Given the description of an element on the screen output the (x, y) to click on. 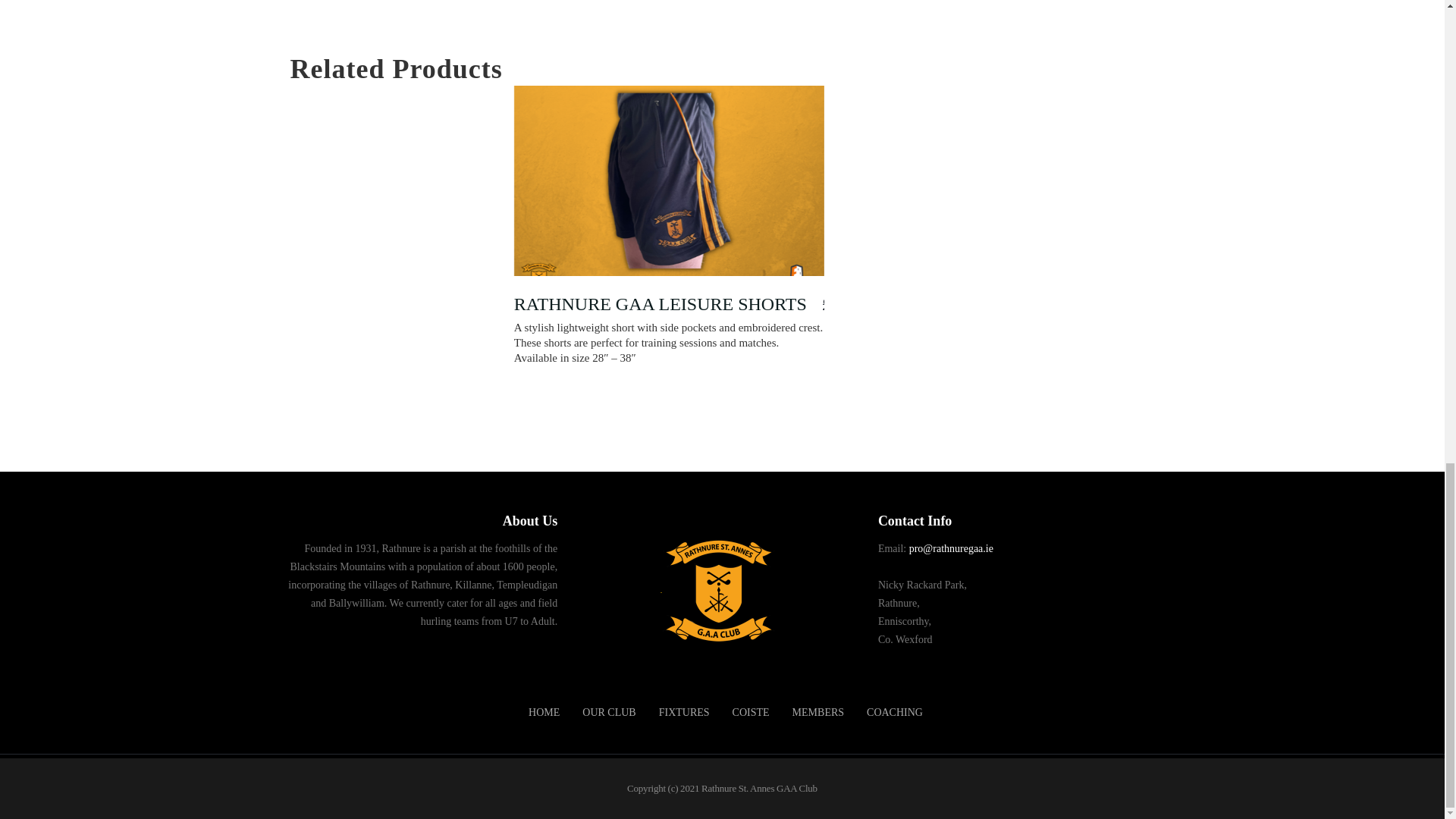
Rathnure GAA Leisure Shorts (668, 198)
